Given the description of an element on the screen output the (x, y) to click on. 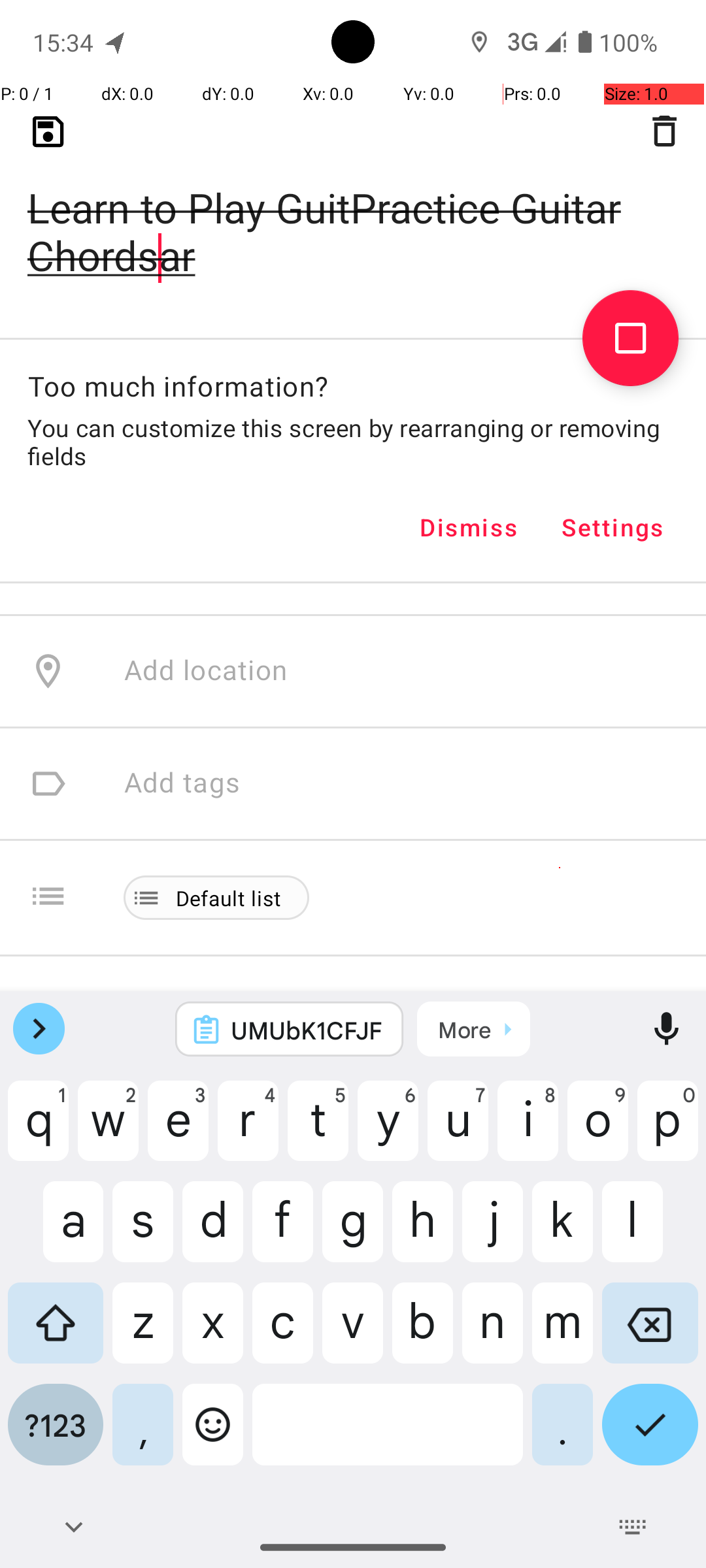
Learn to Play GuitPractice Guitar Chordsar Element type: android.widget.EditText (353, 210)
Week before due 16:53 Element type: android.widget.TextView (272, 221)
